Given the description of an element on the screen output the (x, y) to click on. 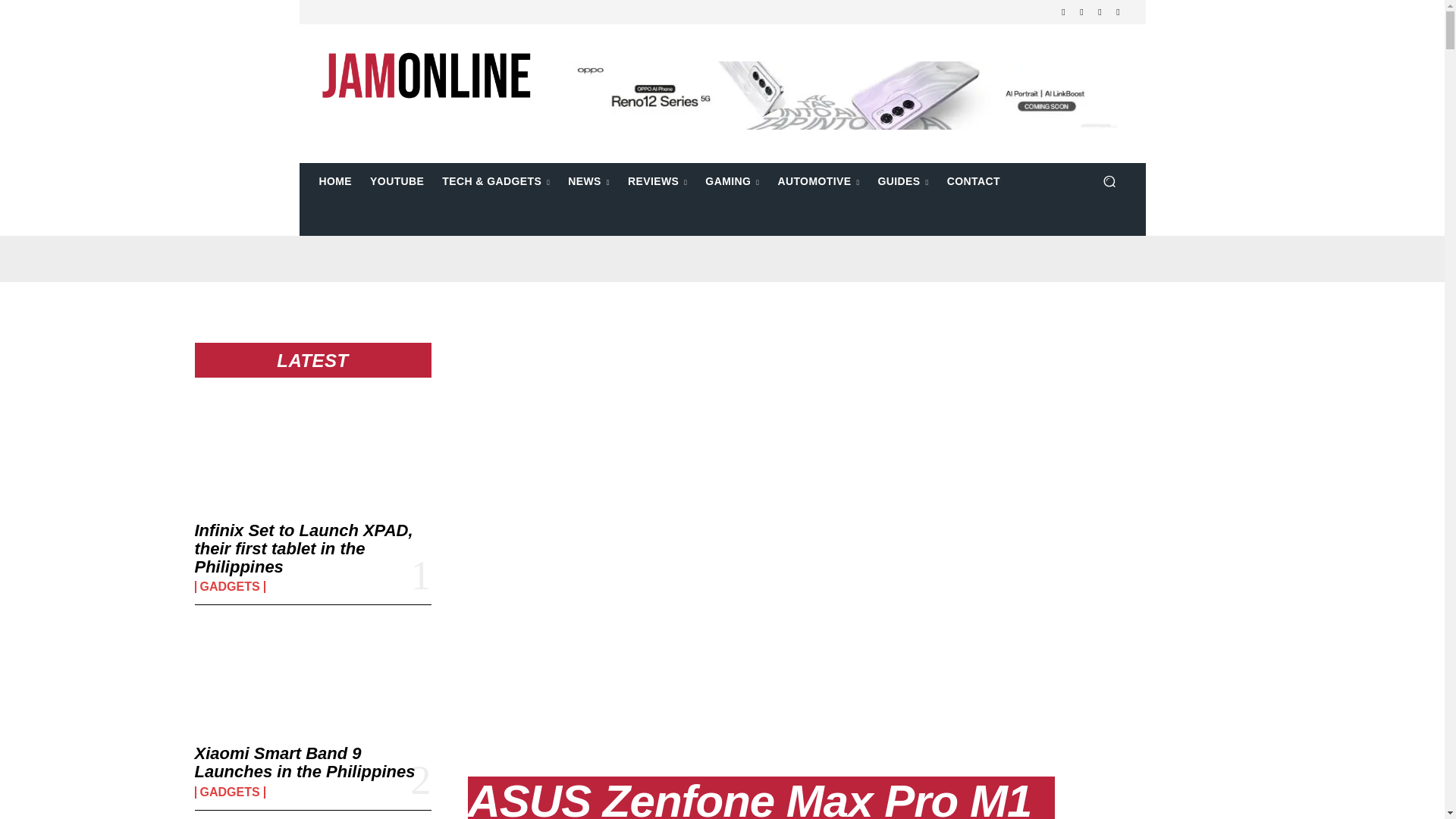
YOUTUBE (396, 180)
Youtube (1117, 12)
Twitter (1099, 12)
HOME (334, 180)
Instagram (1080, 12)
Facebook (1062, 12)
